Given the description of an element on the screen output the (x, y) to click on. 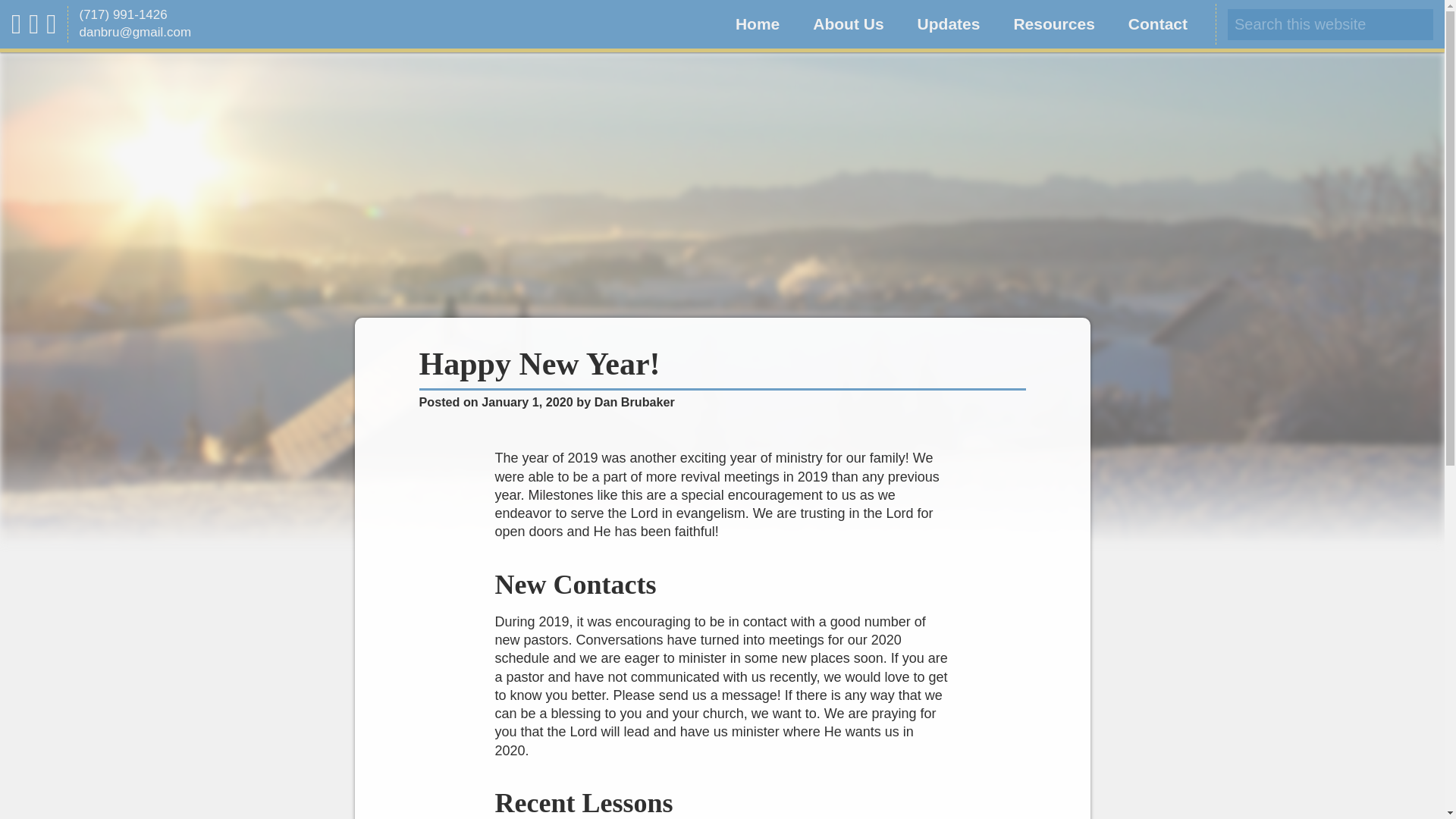
About Us (847, 24)
Resources (1052, 24)
Contact (1158, 24)
Home (757, 24)
Updates (949, 24)
Search (29, 14)
